Given the description of an element on the screen output the (x, y) to click on. 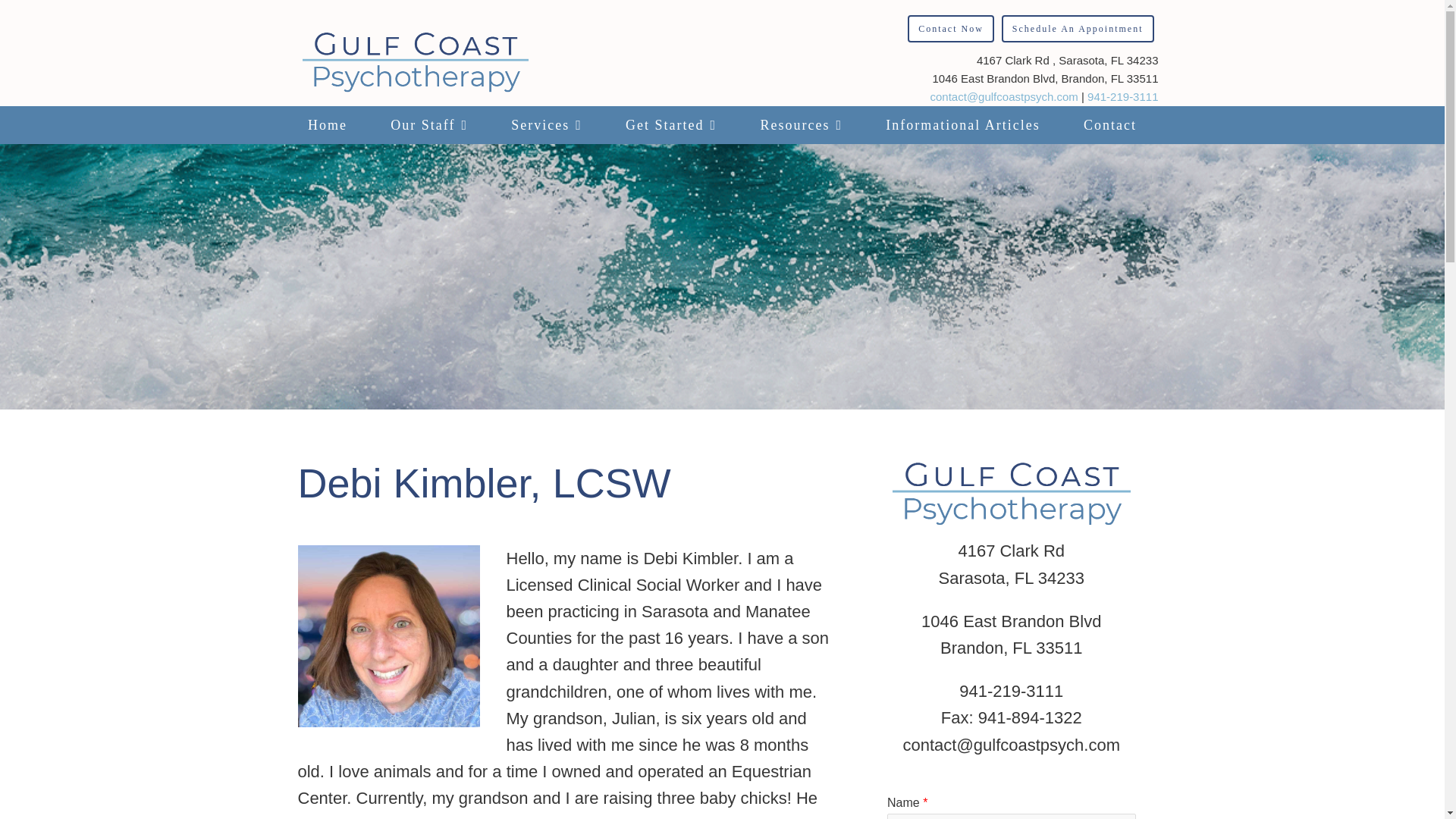
Home (326, 125)
Services (546, 125)
Our Staff (429, 125)
Get Started (671, 125)
Resources (801, 125)
